Given the description of an element on the screen output the (x, y) to click on. 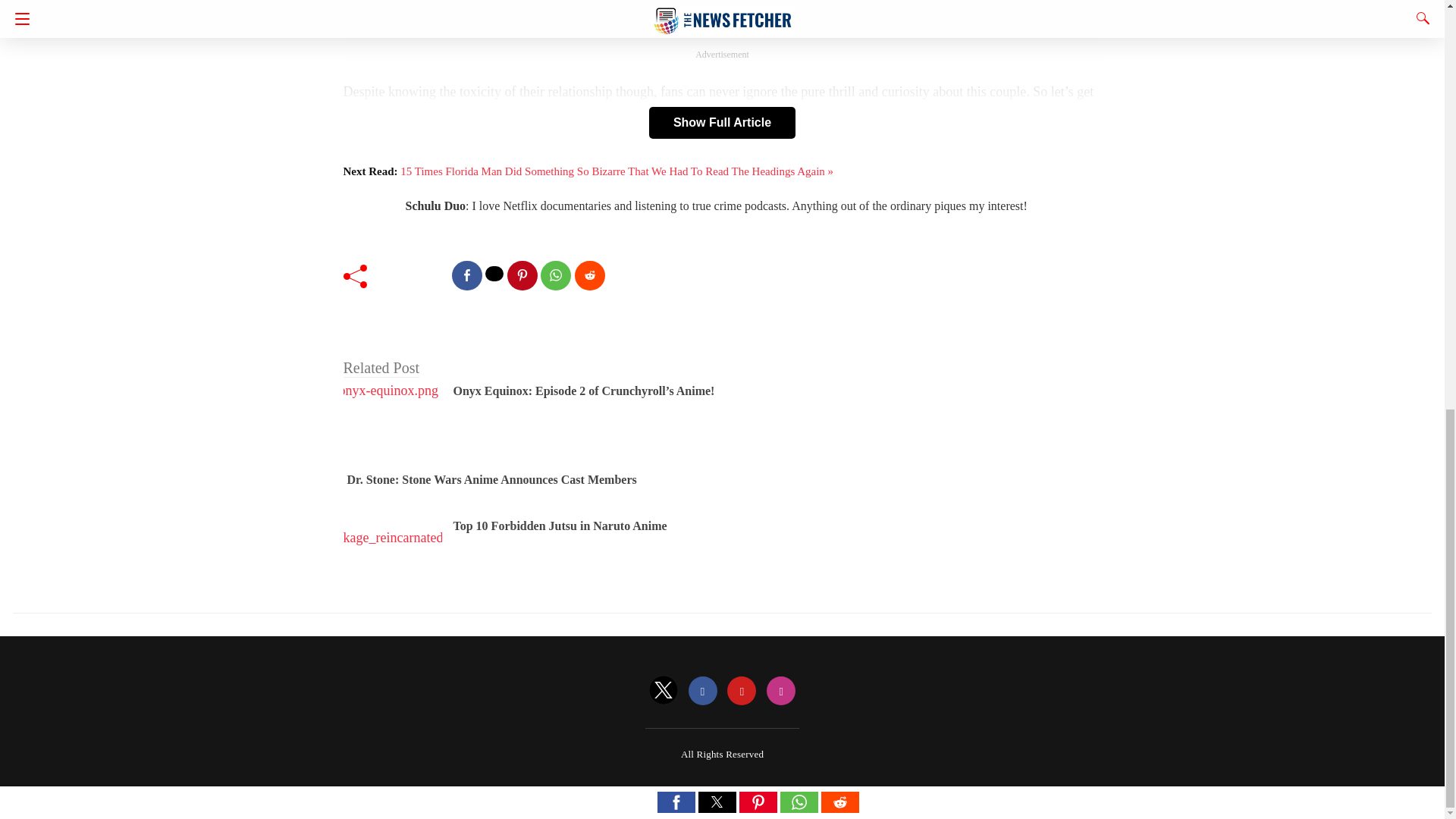
twitter share (493, 273)
facebook share (466, 275)
twitter profile (663, 691)
Top 10 Forbidden Jutsu in Naruto Anime (559, 525)
facebook profile (702, 691)
3rd party ad content (722, 18)
reddit share (590, 275)
Dr. Stone: Stone Wars Anime Announces Cast Members (492, 479)
whatsapp share (555, 275)
Facebook like button (414, 274)
Show Full Article (721, 122)
youtube profile (740, 691)
Dr. Stone: Stone Wars Anime Announces Cast Members (492, 479)
pinterest share (521, 275)
Top 10 Forbidden Jutsu in Naruto Anime (559, 525)
